Given the description of an element on the screen output the (x, y) to click on. 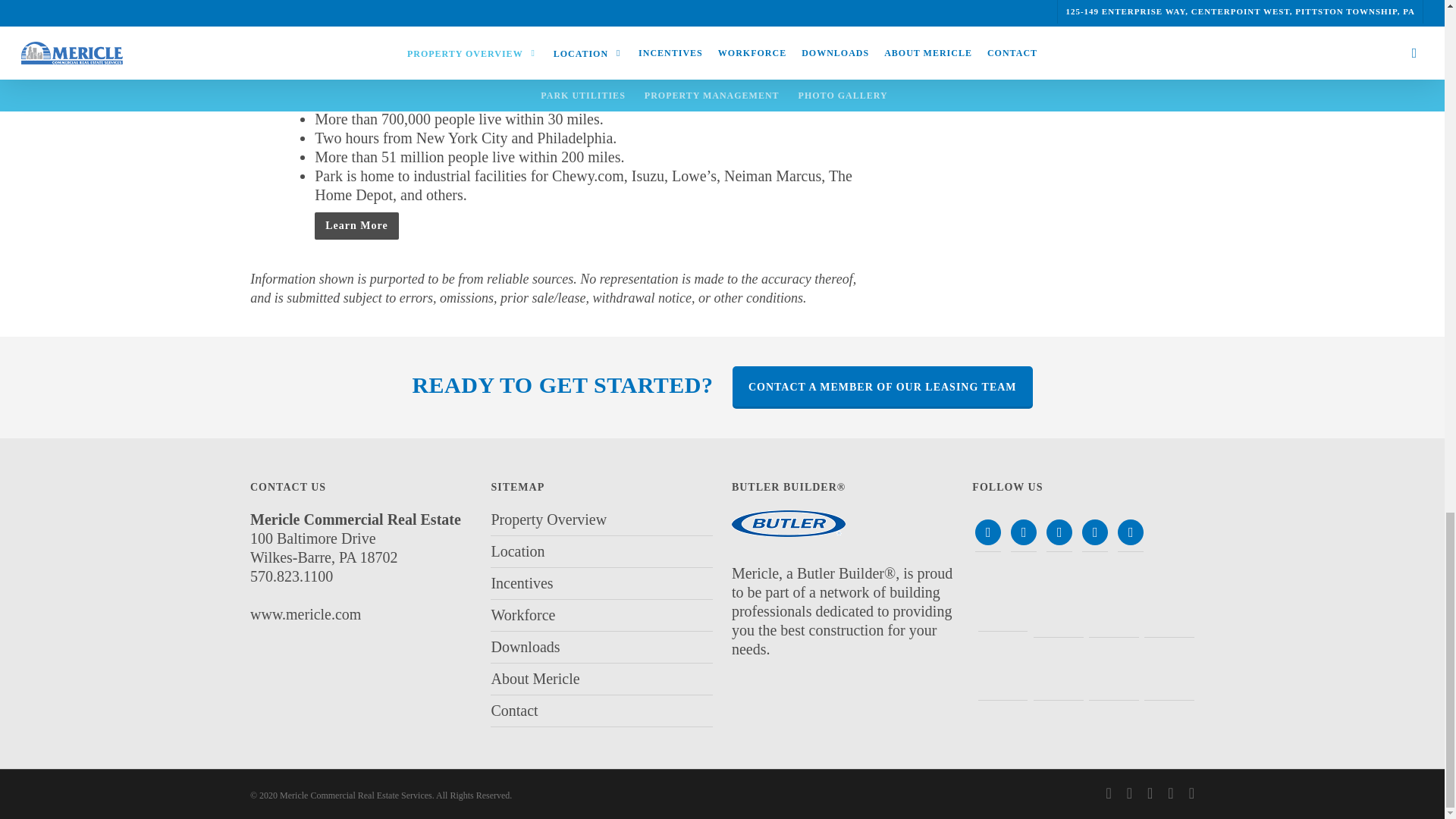
Location (601, 551)
Learn More (355, 225)
Follow Me (988, 530)
www.mericle.com (305, 614)
CONTACT A MEMBER OF OUR LEASING TEAM (882, 387)
Incentives (601, 583)
Instagram (1130, 530)
Workforce (601, 614)
Downloads (601, 646)
Property Overview (601, 522)
Friend me on Facebook (1023, 530)
